Given the description of an element on the screen output the (x, y) to click on. 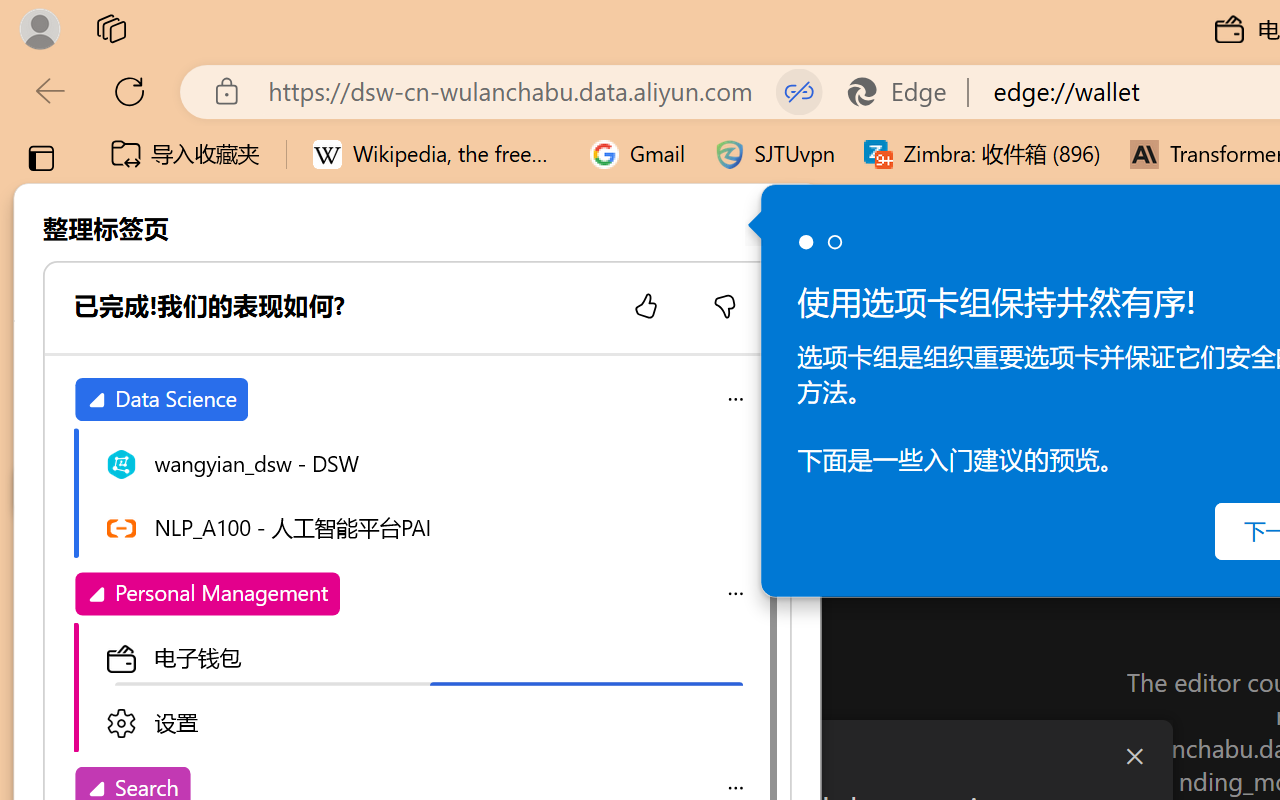
Search (Ctrl+Shift+F) (135, 519)
wangyian_dsw - DSW (42, 357)
